Given the description of an element on the screen output the (x, y) to click on. 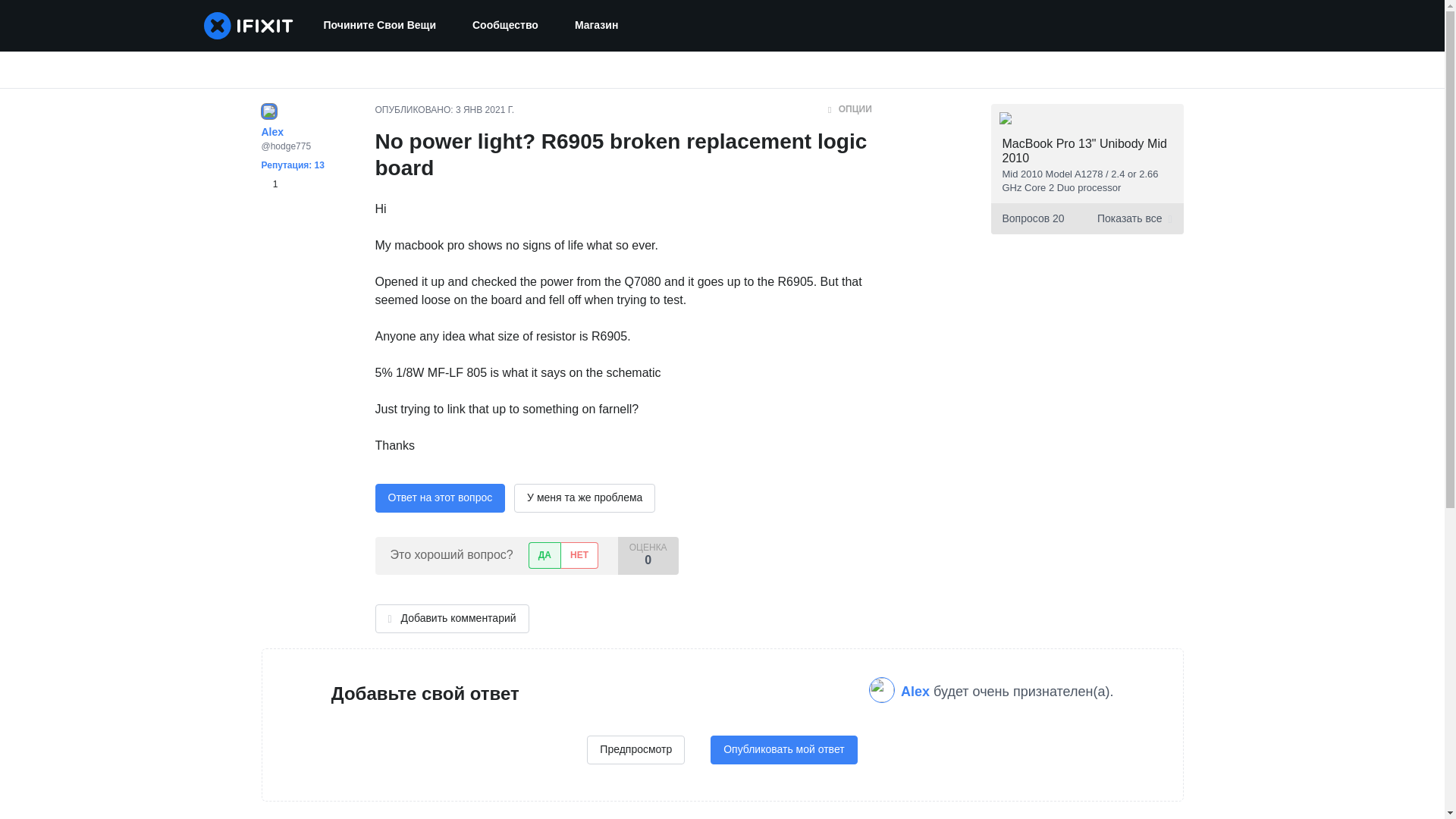
1 (269, 184)
Alex (917, 691)
Sun, 03 Jan 2021 15:23:06 -0700 (484, 109)
MacBook Pro 13" Unibody Mid 2010 (1085, 150)
